Given the description of an element on the screen output the (x, y) to click on. 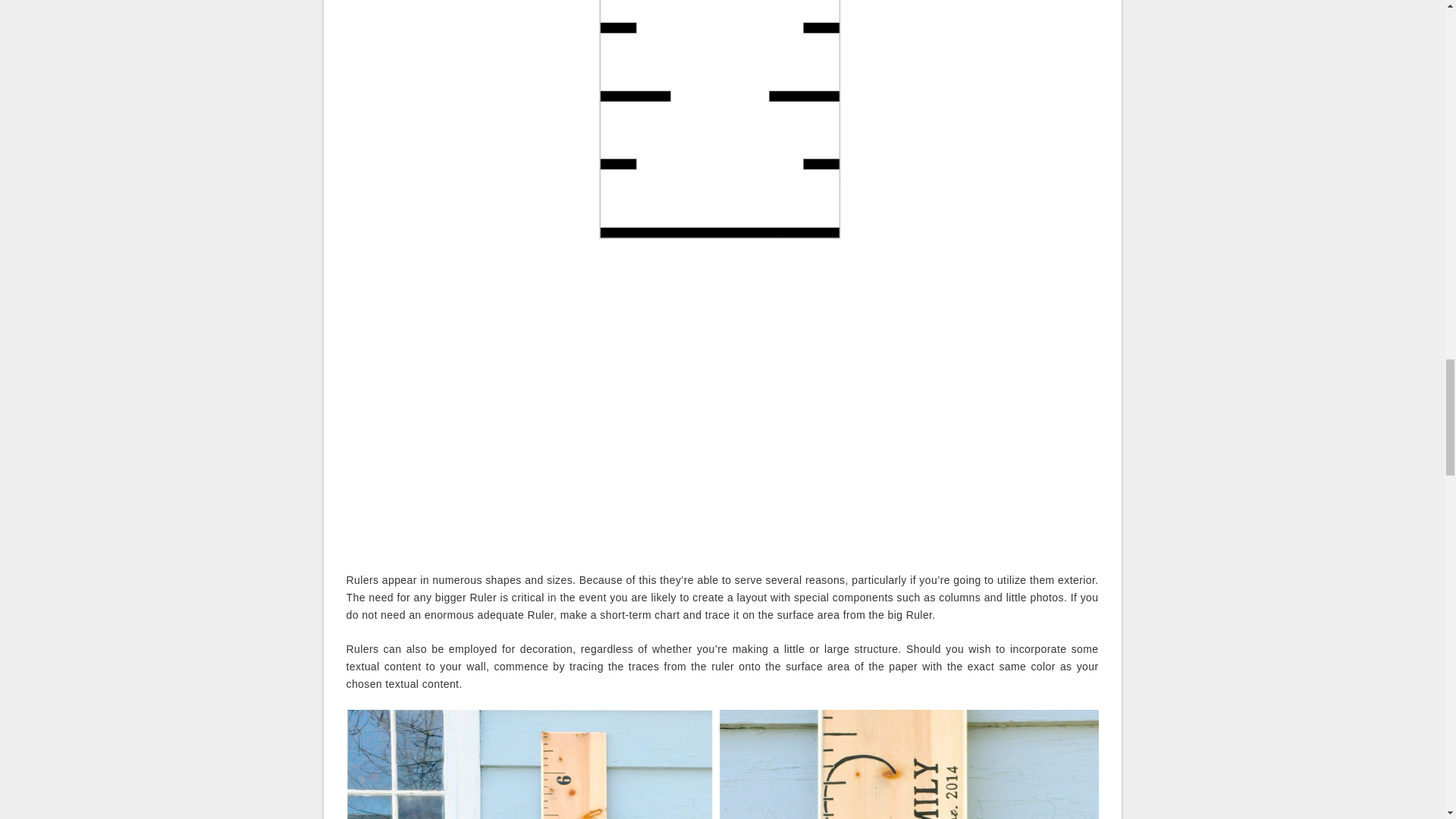
diy ruler growth chart tutorial with printable fink 9 scaled (721, 764)
Advertisement (721, 449)
